Given the description of an element on the screen output the (x, y) to click on. 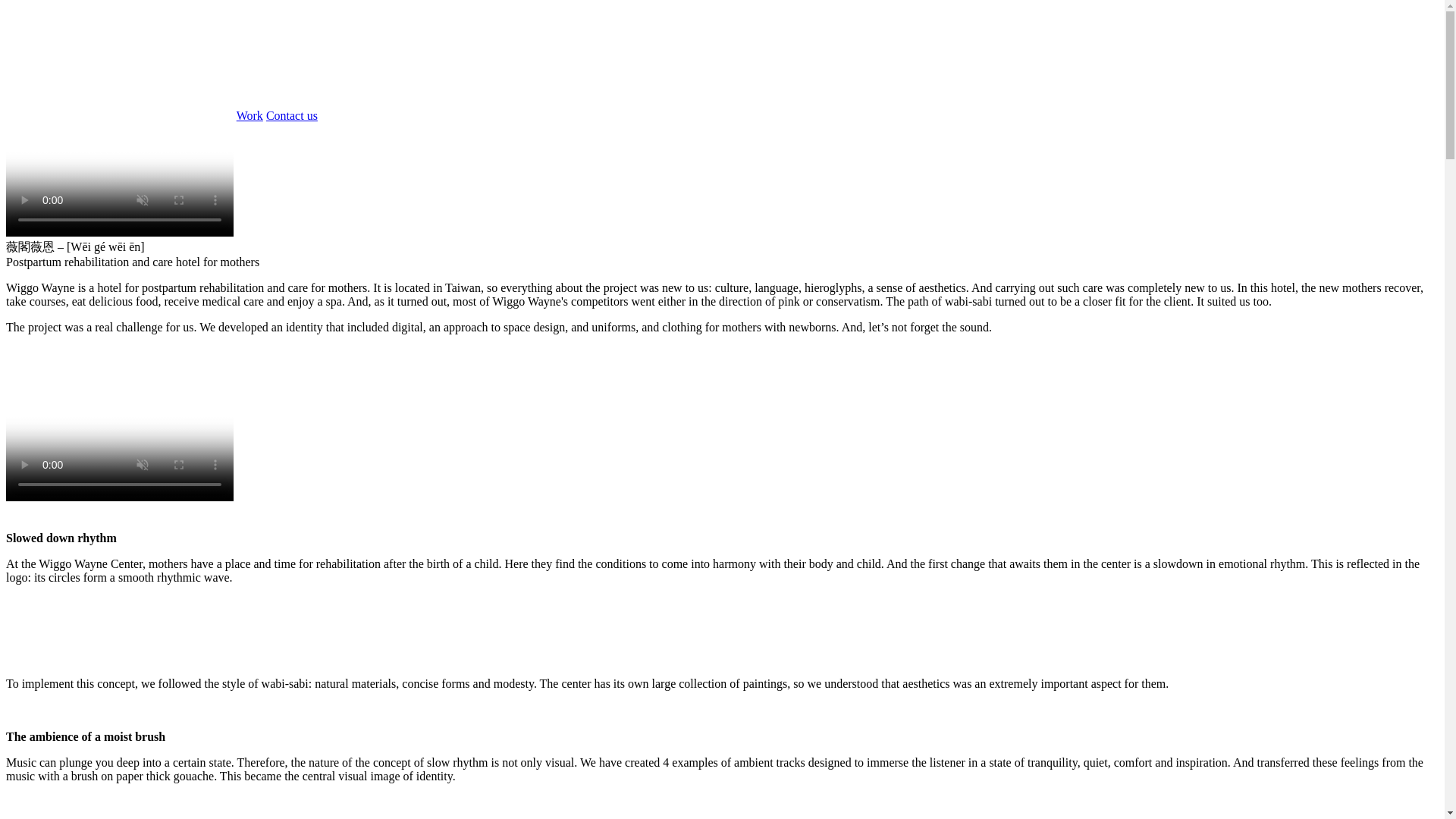
Contact us (291, 115)
Work (249, 115)
